Given the description of an element on the screen output the (x, y) to click on. 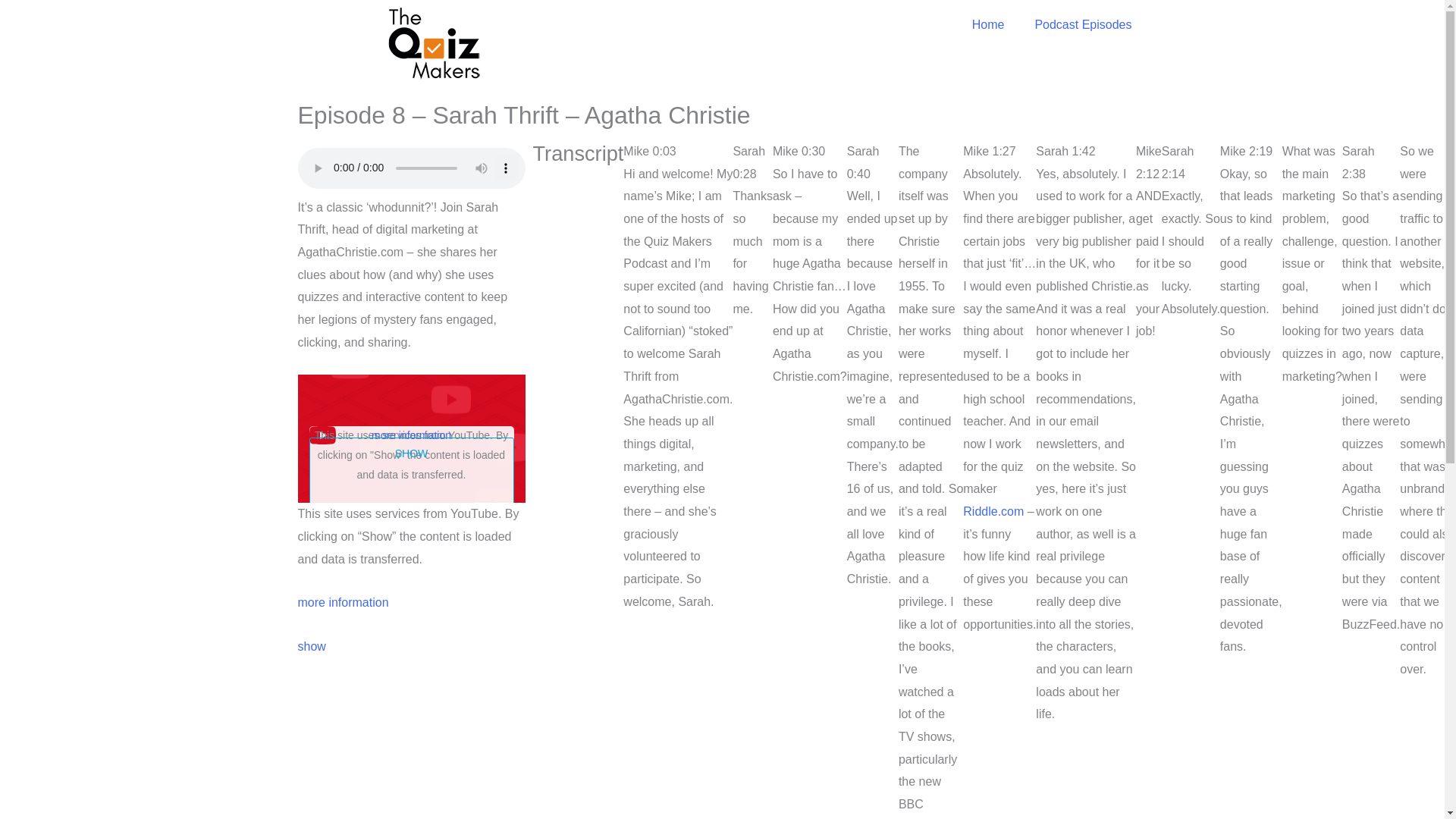
Home (988, 24)
show (310, 645)
Riddle.com (992, 511)
Podcast Episodes (1083, 24)
more information (342, 602)
